Given the description of an element on the screen output the (x, y) to click on. 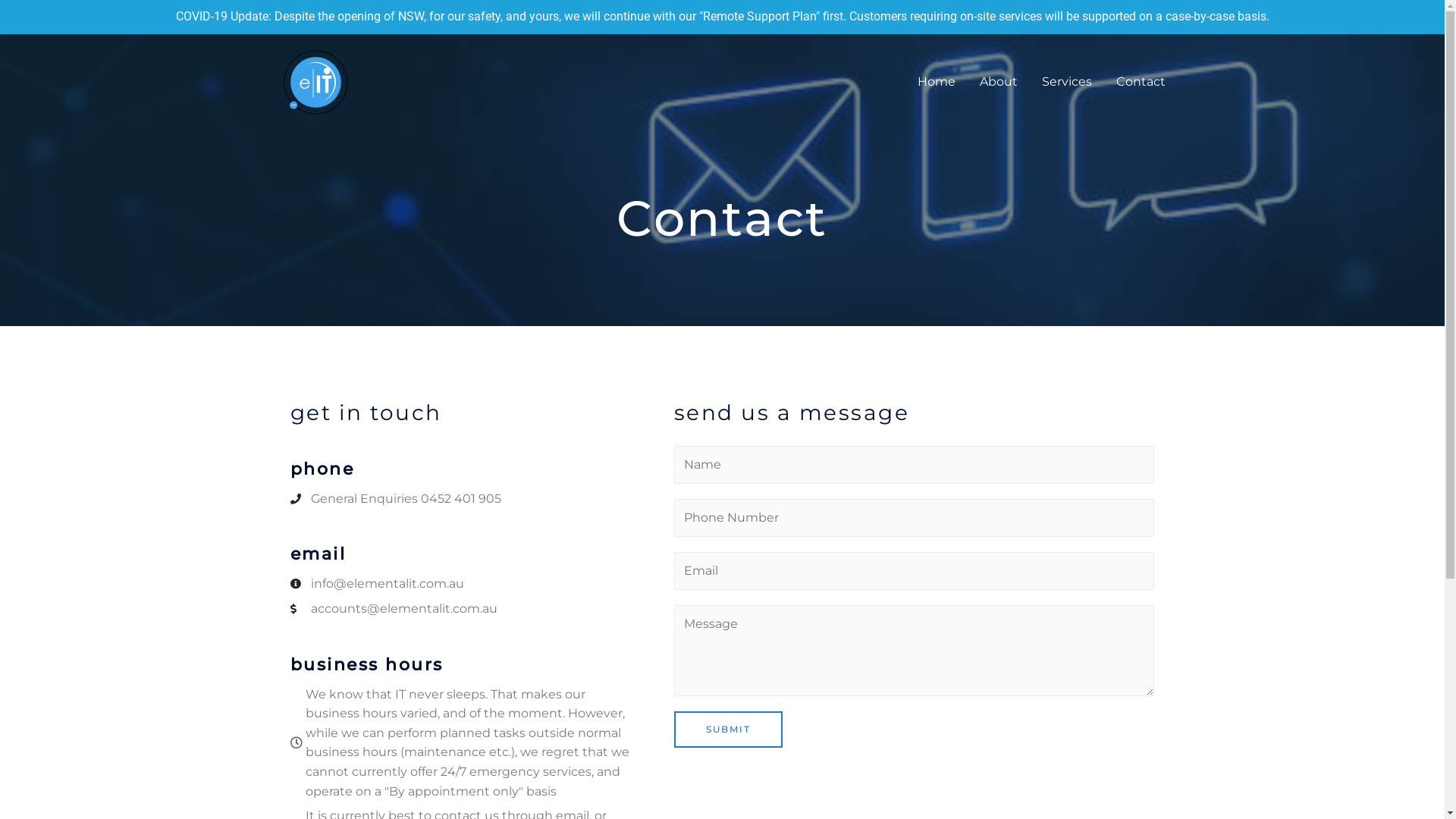
General Enquiries 0452 401 905 Element type: text (462, 498)
About Element type: text (998, 81)
Home Element type: text (936, 81)
Services Element type: text (1066, 81)
Contact Element type: text (1140, 81)
accounts@elementalit.com.au Element type: text (462, 608)
SUBMIT Element type: text (727, 729)
info@elementalit.com.au Element type: text (462, 583)
